Given the description of an element on the screen output the (x, y) to click on. 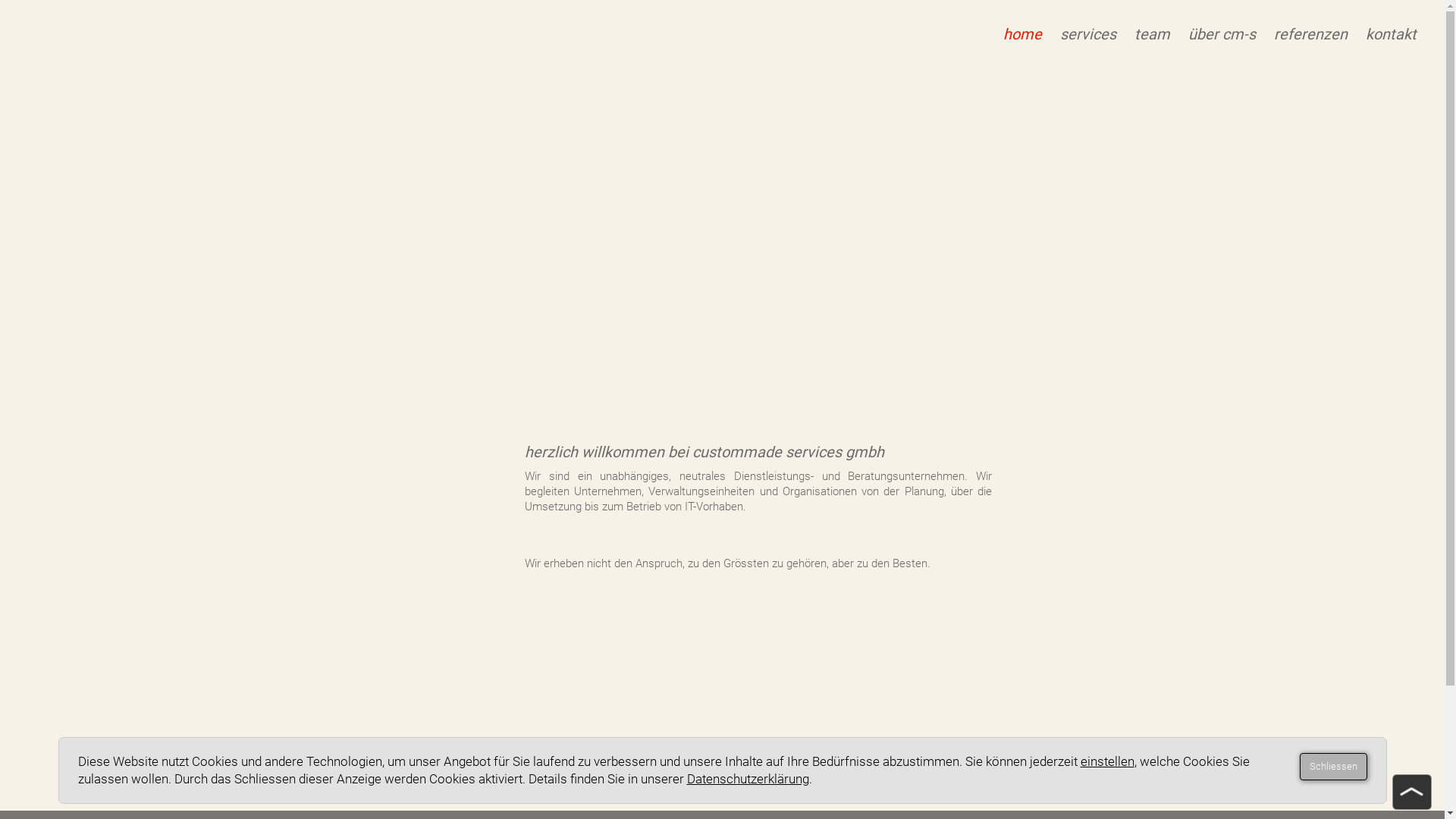
services Element type: text (1088, 34)
kontakt Element type: text (1390, 34)
Schliessen Element type: text (1333, 766)
referenzen Element type: text (1310, 34)
home Element type: text (1022, 34)
team Element type: text (1152, 34)
